Given the description of an element on the screen output the (x, y) to click on. 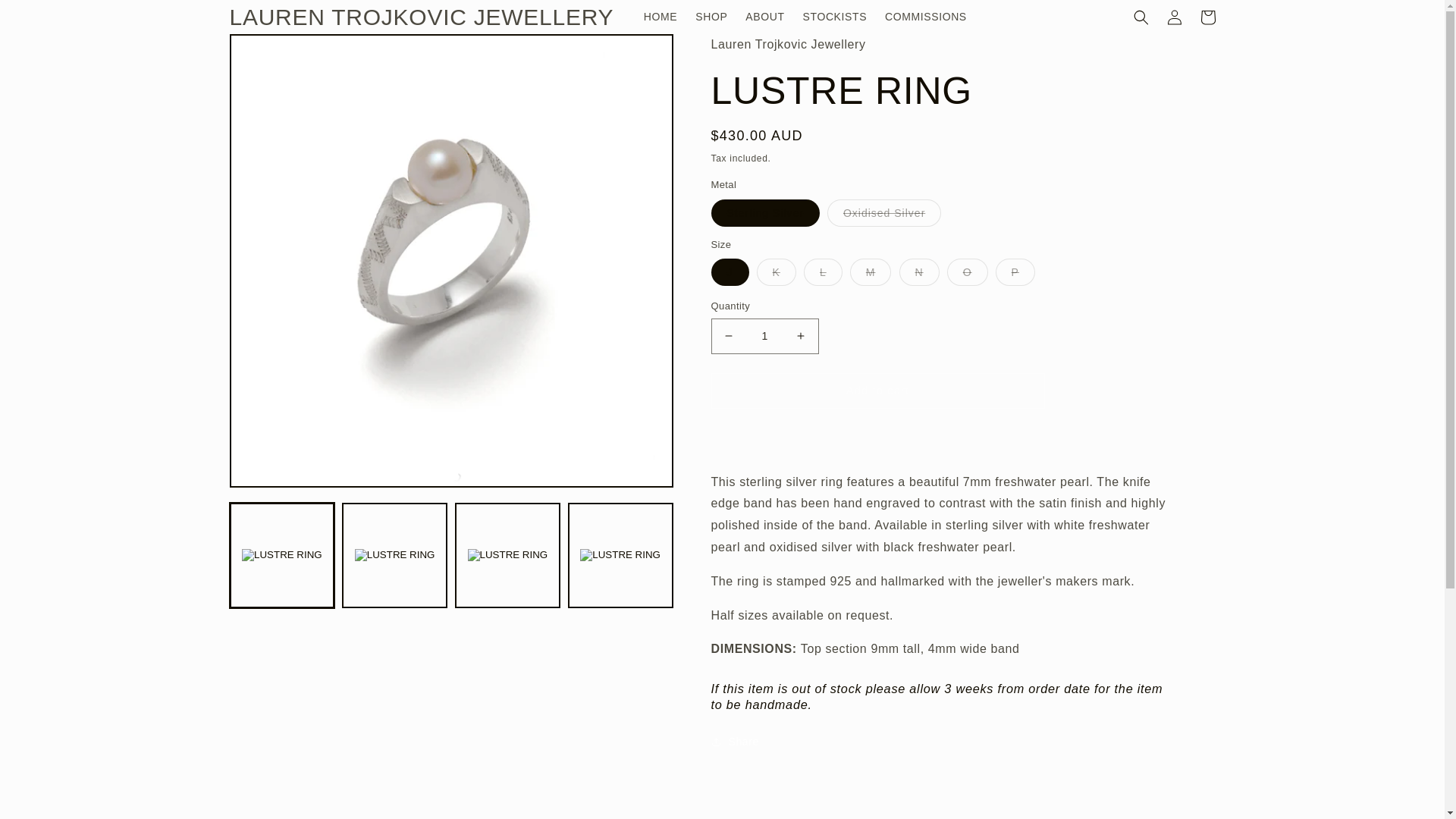
SHOP (710, 16)
Skip to content (45, 17)
COMMISSIONS (925, 16)
STOCKISTS (834, 16)
1 (764, 335)
Cart (1207, 16)
ABOUT (764, 16)
Add to cart (878, 390)
